Given the description of an element on the screen output the (x, y) to click on. 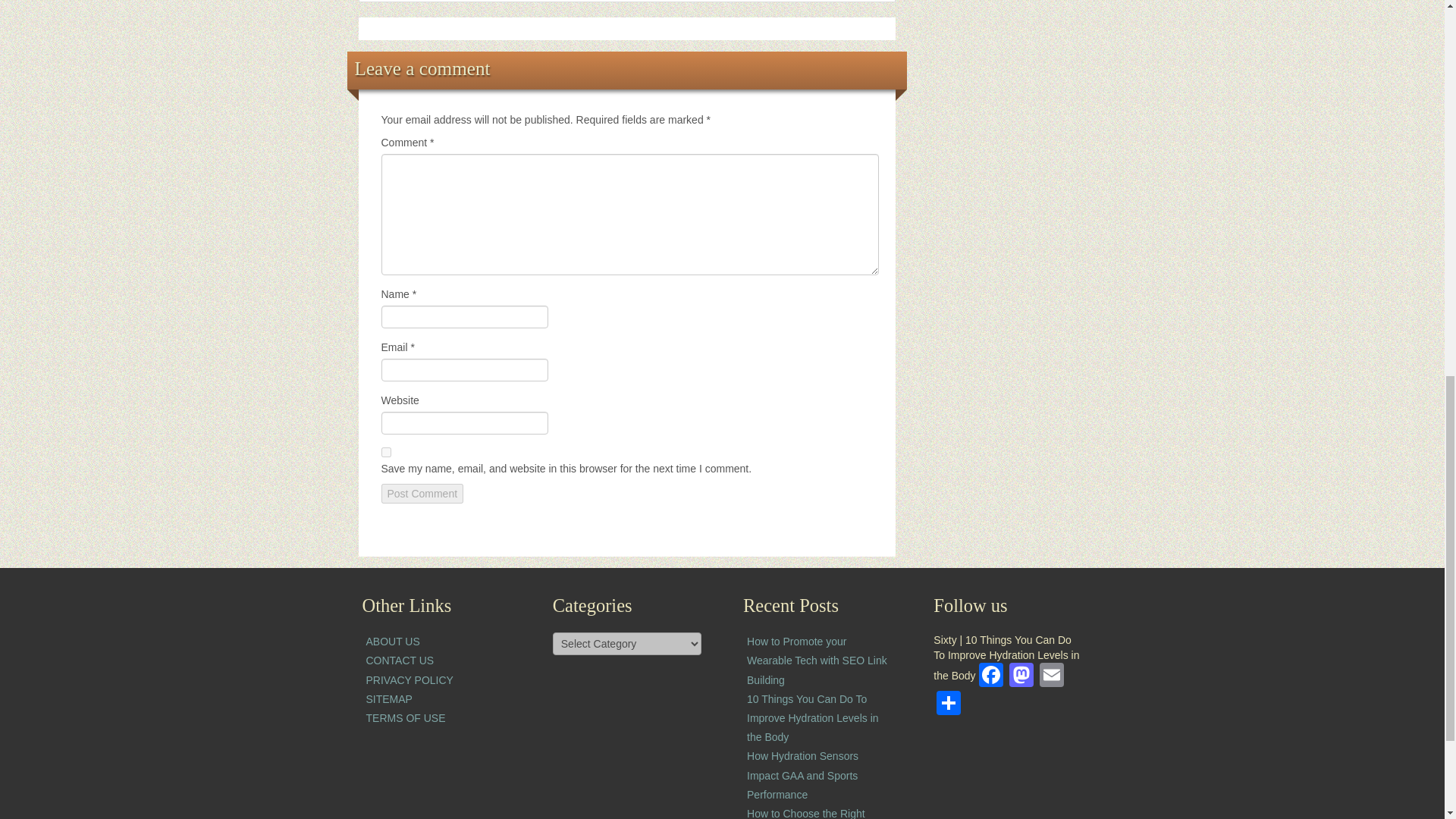
Mastodon (1021, 676)
How Hydration Sensors Impact GAA and Sports Performance (802, 775)
How to Choose the Right Hydration Sensor (805, 813)
CONTACT US (399, 660)
Facebook (990, 676)
SITEMAP (388, 698)
How to Promote your Wearable Tech with SEO Link Building (816, 660)
ABOUT US (392, 641)
Post Comment (421, 493)
yes (385, 452)
PRIVACY POLICY (408, 680)
Facebook (990, 676)
Post Comment (421, 493)
10 Things You Can Do To Improve Hydration Levels in the Body (812, 717)
TERMS OF USE (405, 717)
